Given the description of an element on the screen output the (x, y) to click on. 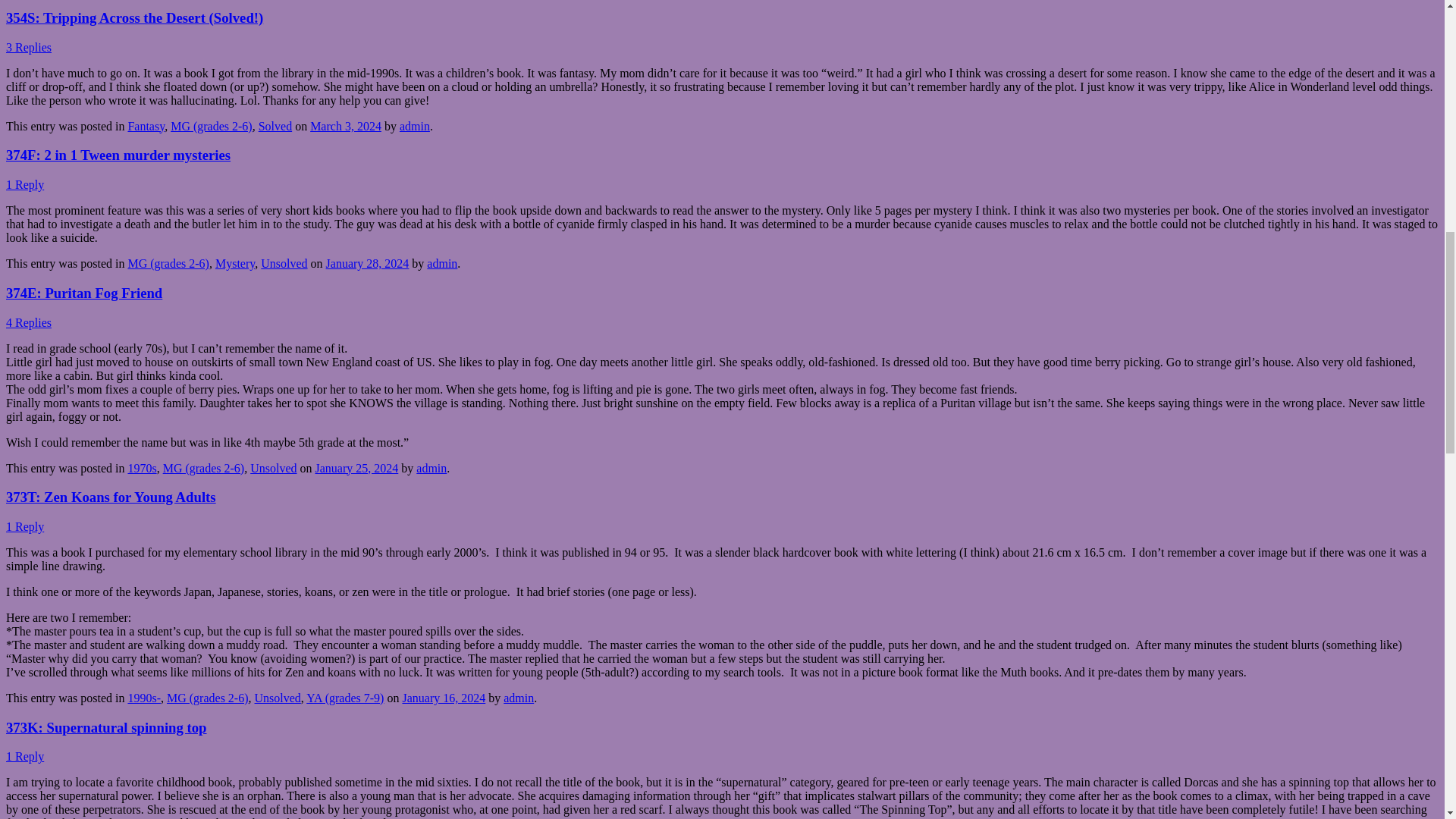
View all posts by admin (431, 467)
10:07 am (356, 467)
3 Replies (27, 47)
Fantasy (146, 125)
Solved (275, 125)
View all posts by admin (518, 697)
View all posts by admin (413, 125)
12:09 pm (367, 263)
March 3, 2024 (345, 125)
1:47 pm (442, 697)
